Given the description of an element on the screen output the (x, y) to click on. 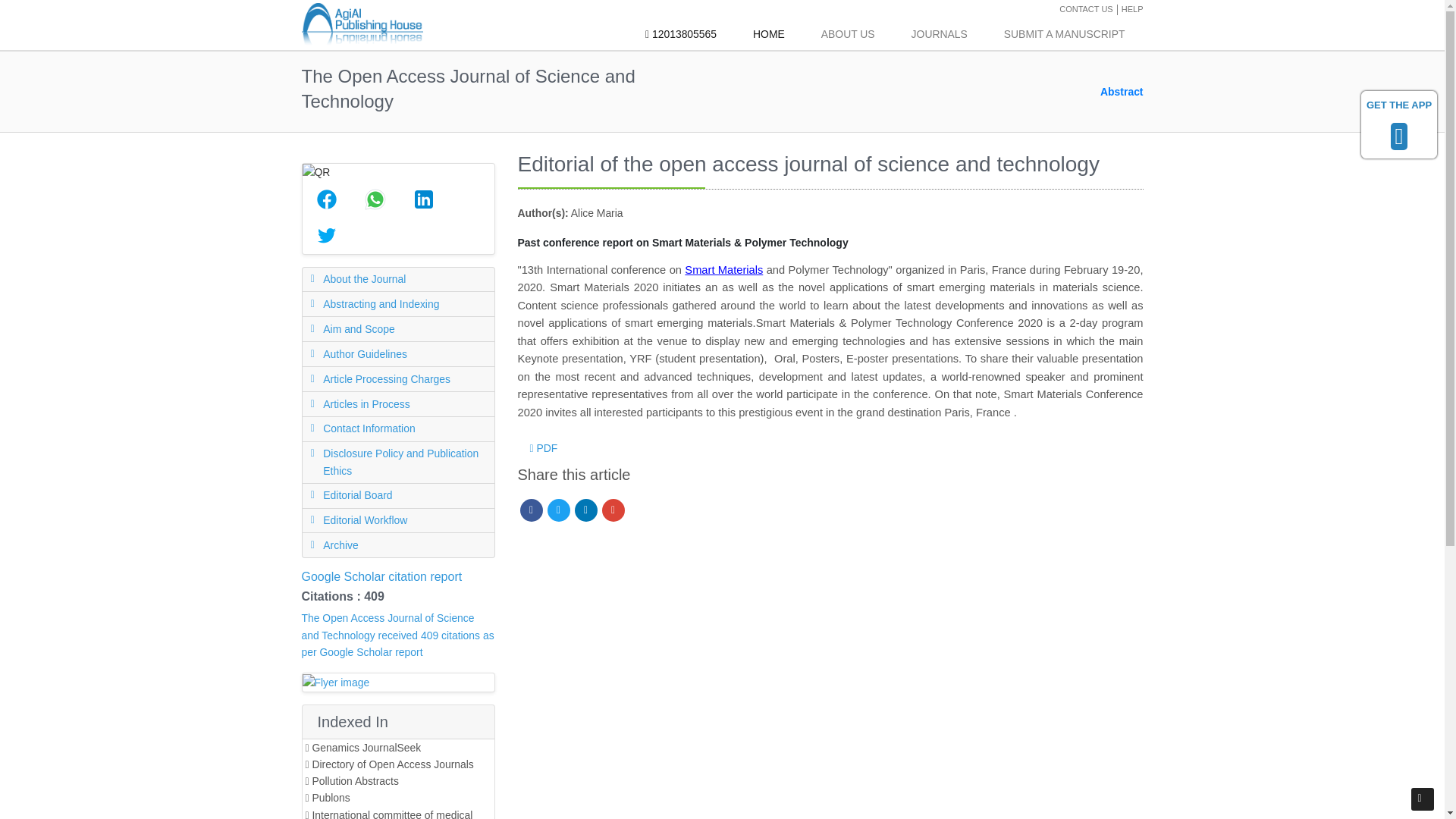
HELP (1131, 8)
Disclosure Policy and Publication Ethics (398, 462)
Share This Article (422, 198)
Click here (1131, 8)
Click here (681, 34)
PDF (542, 448)
Google Scholar citation report (382, 576)
Click here (939, 34)
About the Journal (398, 279)
